Given the description of an element on the screen output the (x, y) to click on. 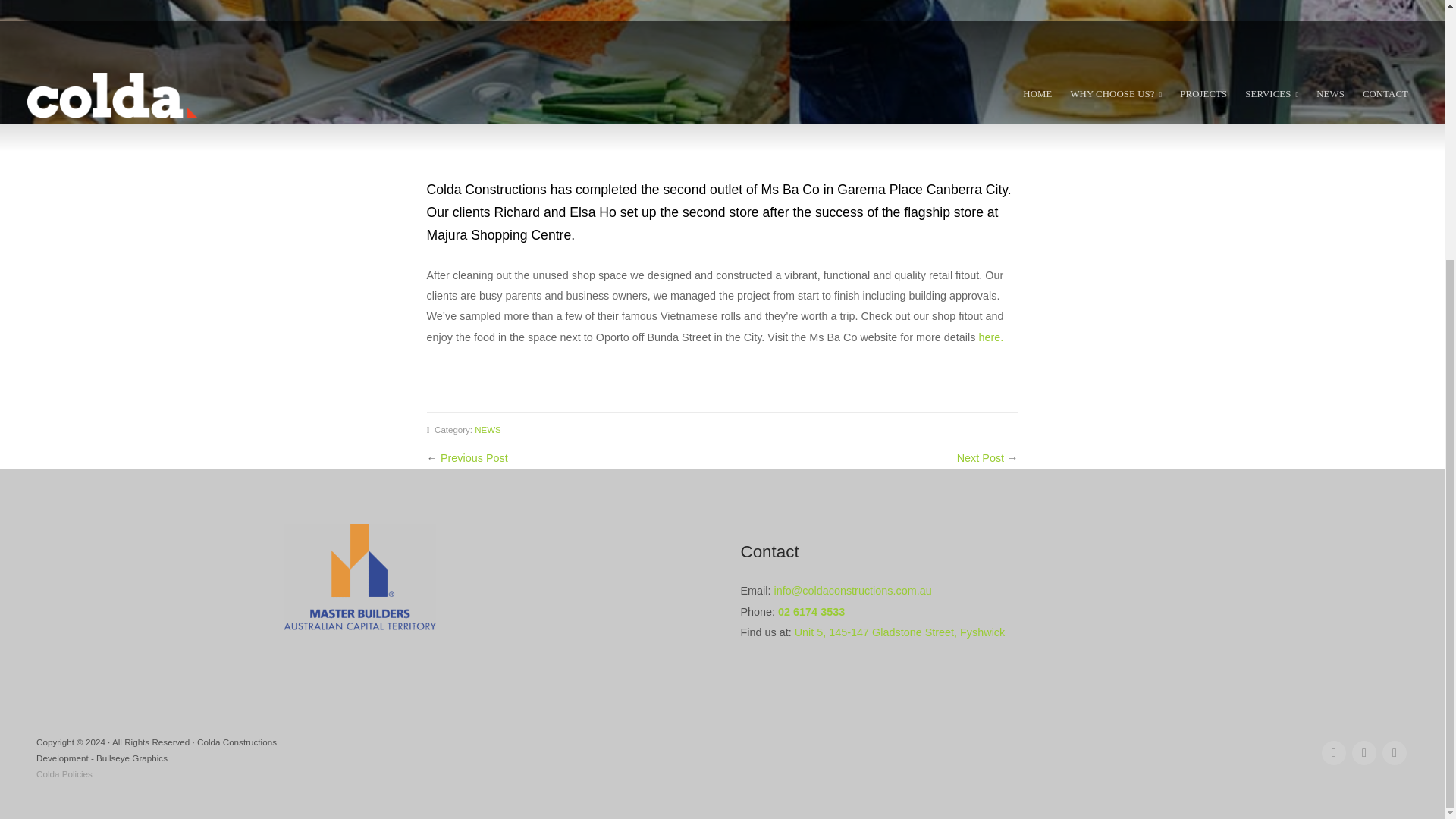
02 6174 3533 (810, 612)
Colda Policies (64, 773)
here. (990, 337)
Previous Post (474, 458)
NEWS (487, 429)
Next Post (980, 458)
Unit 5, 145-147 Gladstone Street, Fyshwick (900, 632)
Master Builders Association (359, 576)
